Given the description of an element on the screen output the (x, y) to click on. 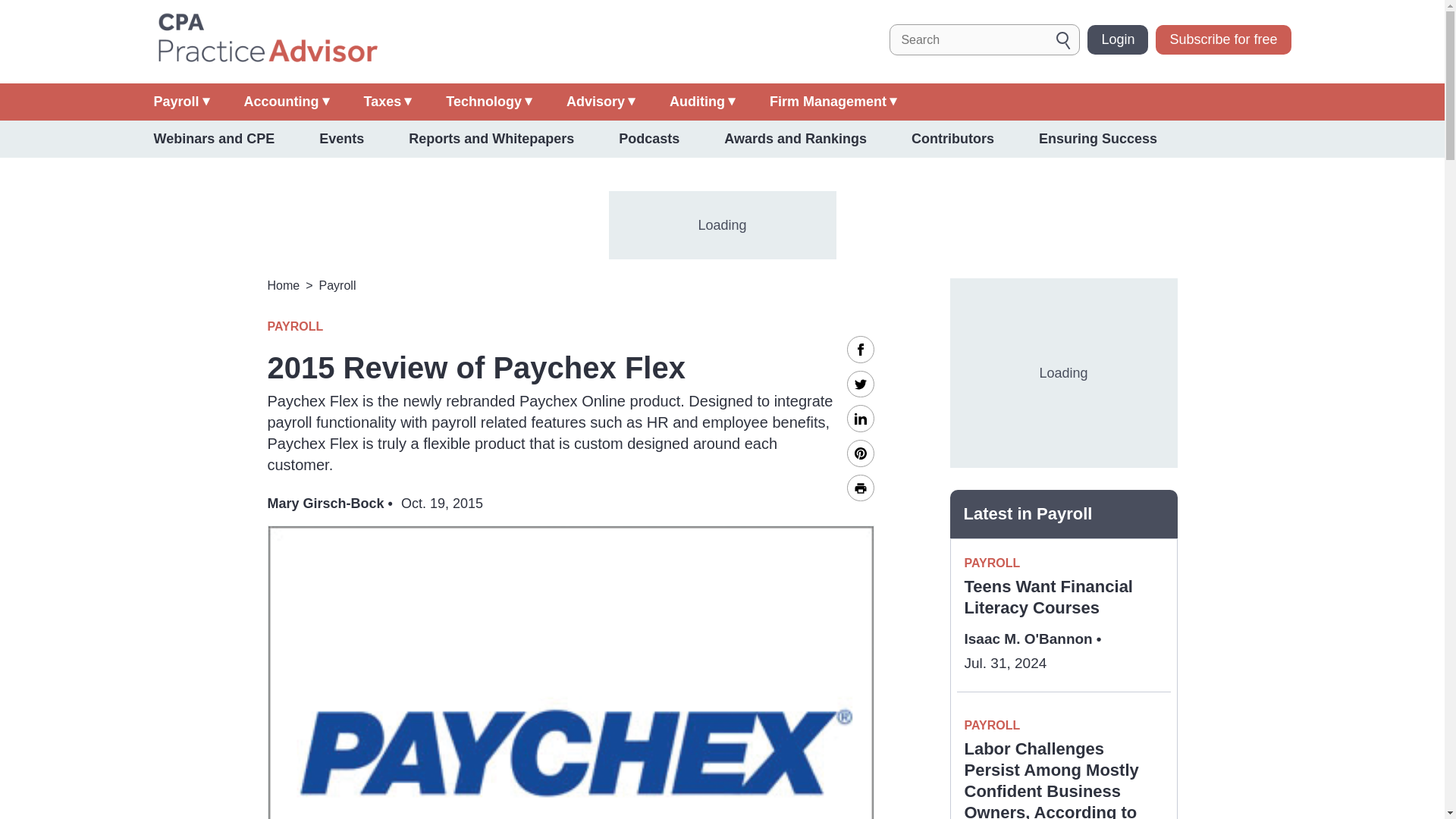
Auditing (702, 101)
Accounting (287, 101)
Home (266, 39)
Payroll (180, 101)
Login (1117, 39)
Technology (488, 101)
Advisory (600, 101)
Subscribe for free (1223, 39)
Taxes (388, 101)
